Given the description of an element on the screen output the (x, y) to click on. 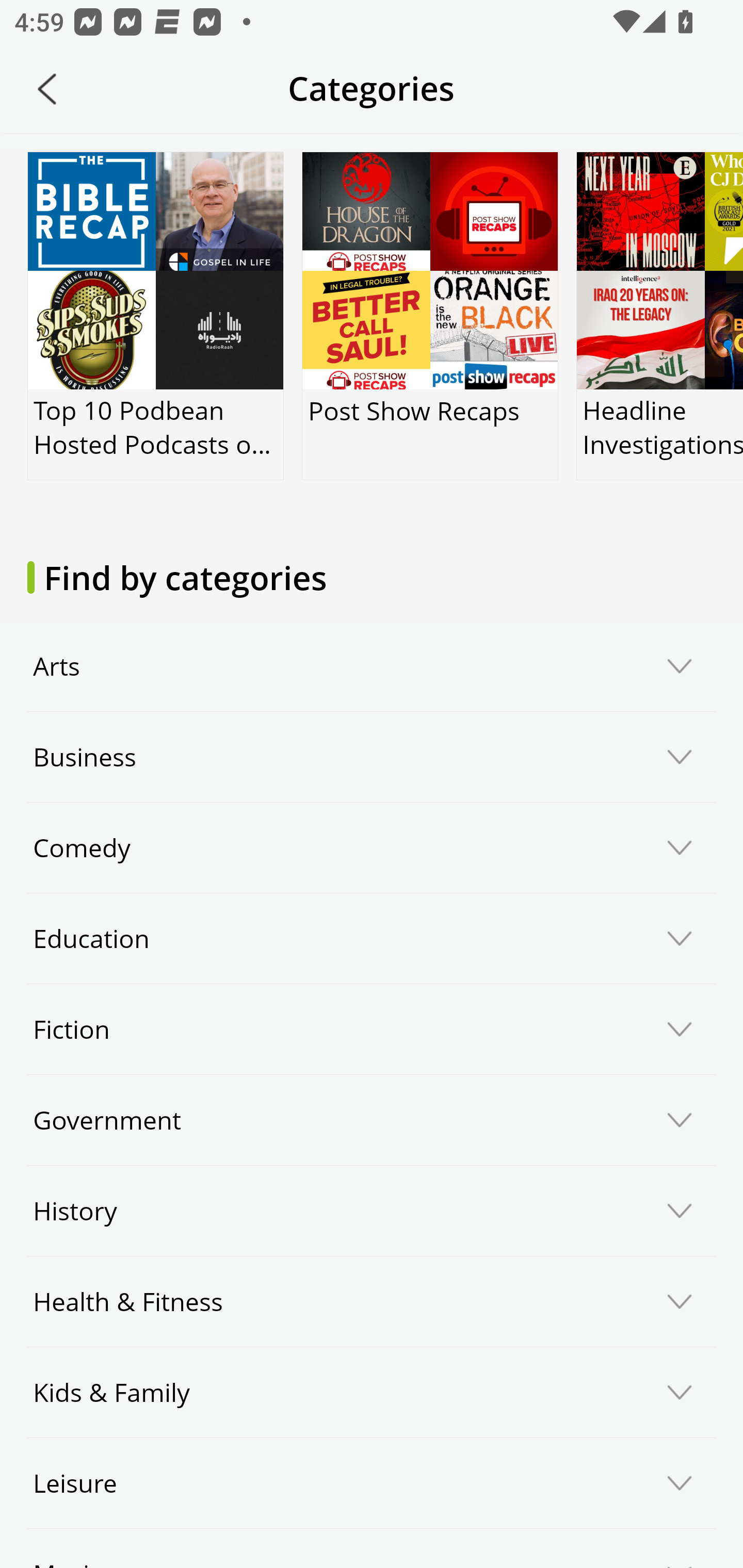
Back (46, 88)
Top 10 Podbean Hosted Podcasts of 2023 (155, 315)
Post Show Recaps (429, 315)
Headline Investigations (659, 315)
Arts (371, 665)
Business (371, 756)
Comedy (371, 847)
Education (371, 938)
Fiction (371, 1029)
Government (371, 1120)
History (371, 1210)
Health & Fitness (371, 1300)
Kids & Family (371, 1391)
Leisure (371, 1482)
